Given the description of an element on the screen output the (x, y) to click on. 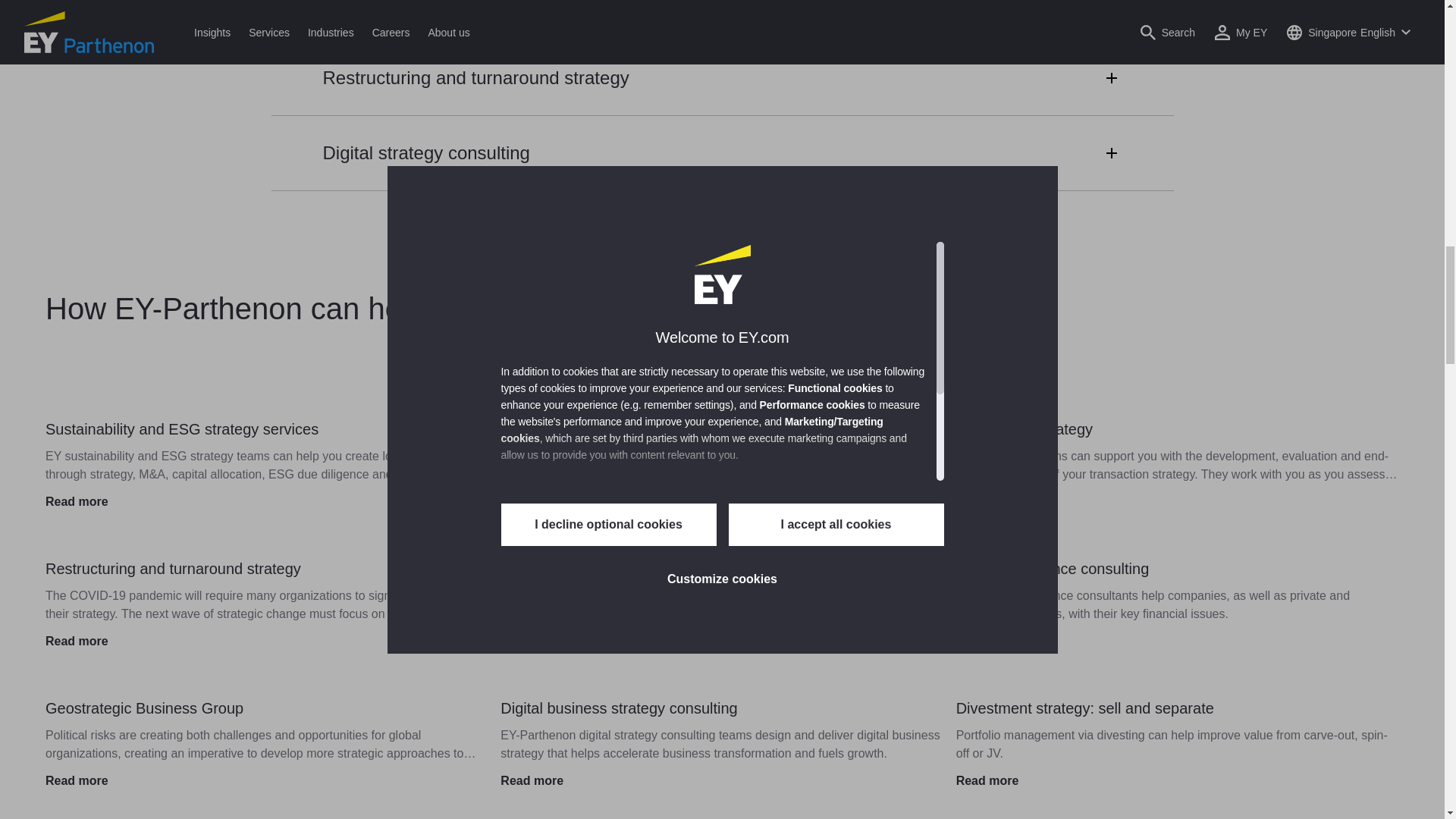
Digital strategy consulting (721, 152)
Transaction strategy and execution (721, 20)
Restructuring and turnaround strategy (721, 77)
